Given the description of an element on the screen output the (x, y) to click on. 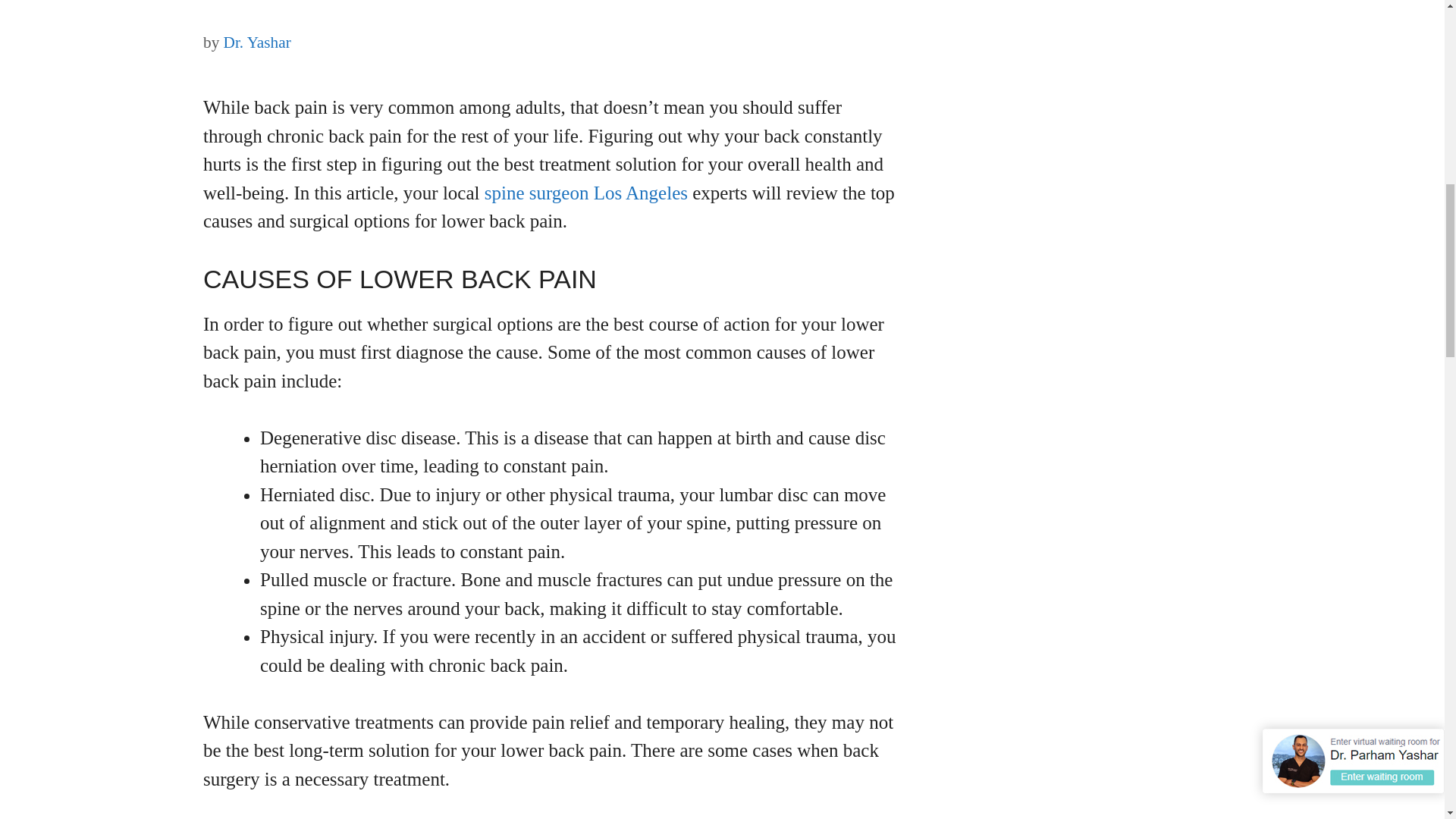
Scroll back to top (1406, 666)
View all posts by Dr. Yashar (257, 42)
